Given the description of an element on the screen output the (x, y) to click on. 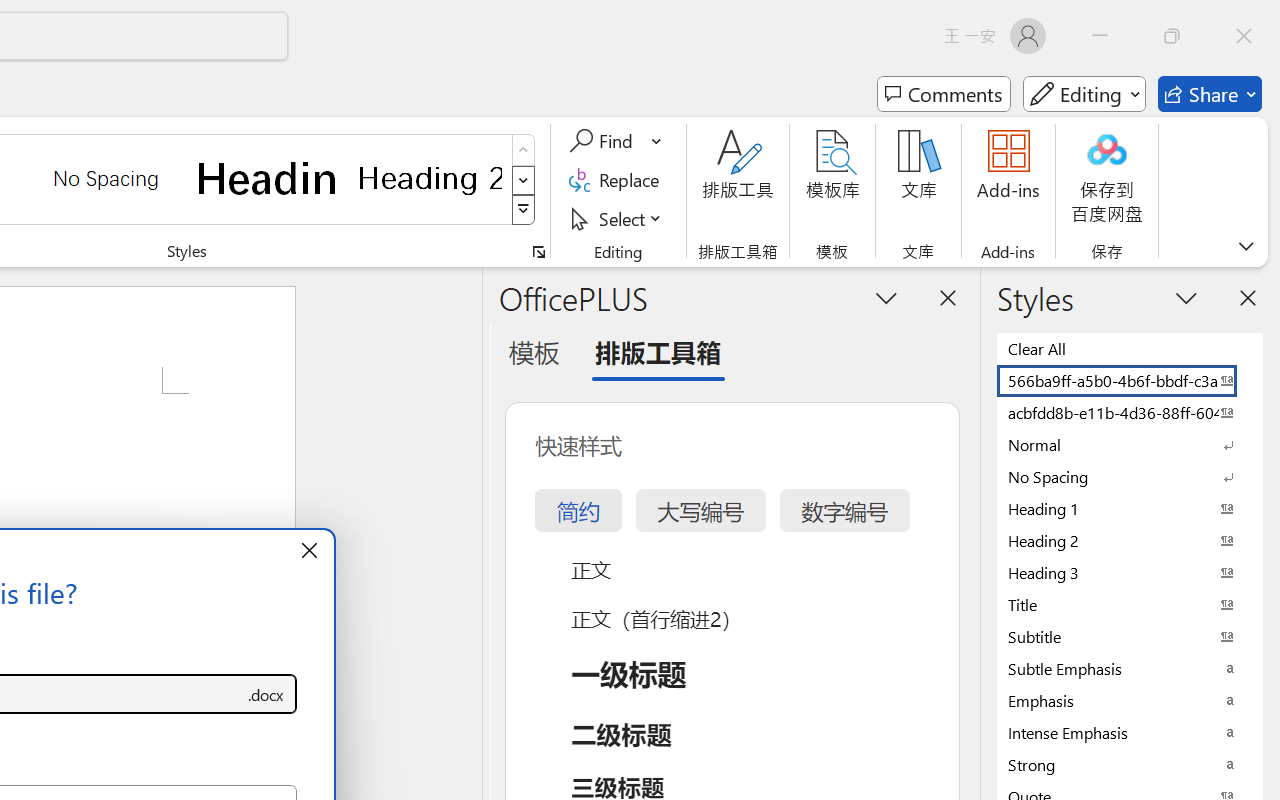
Subtle Emphasis (1130, 668)
Heading 1 (267, 178)
Strong (1130, 764)
Mode (1083, 94)
Close (1244, 36)
Ribbon Display Options (1246, 245)
More Options (657, 141)
566ba9ff-a5b0-4b6f-bbdf-c3ab41993fc2 (1130, 380)
No Spacing (1130, 476)
Intense Emphasis (1130, 732)
Styles... (538, 252)
Normal (1130, 444)
